Given the description of an element on the screen output the (x, y) to click on. 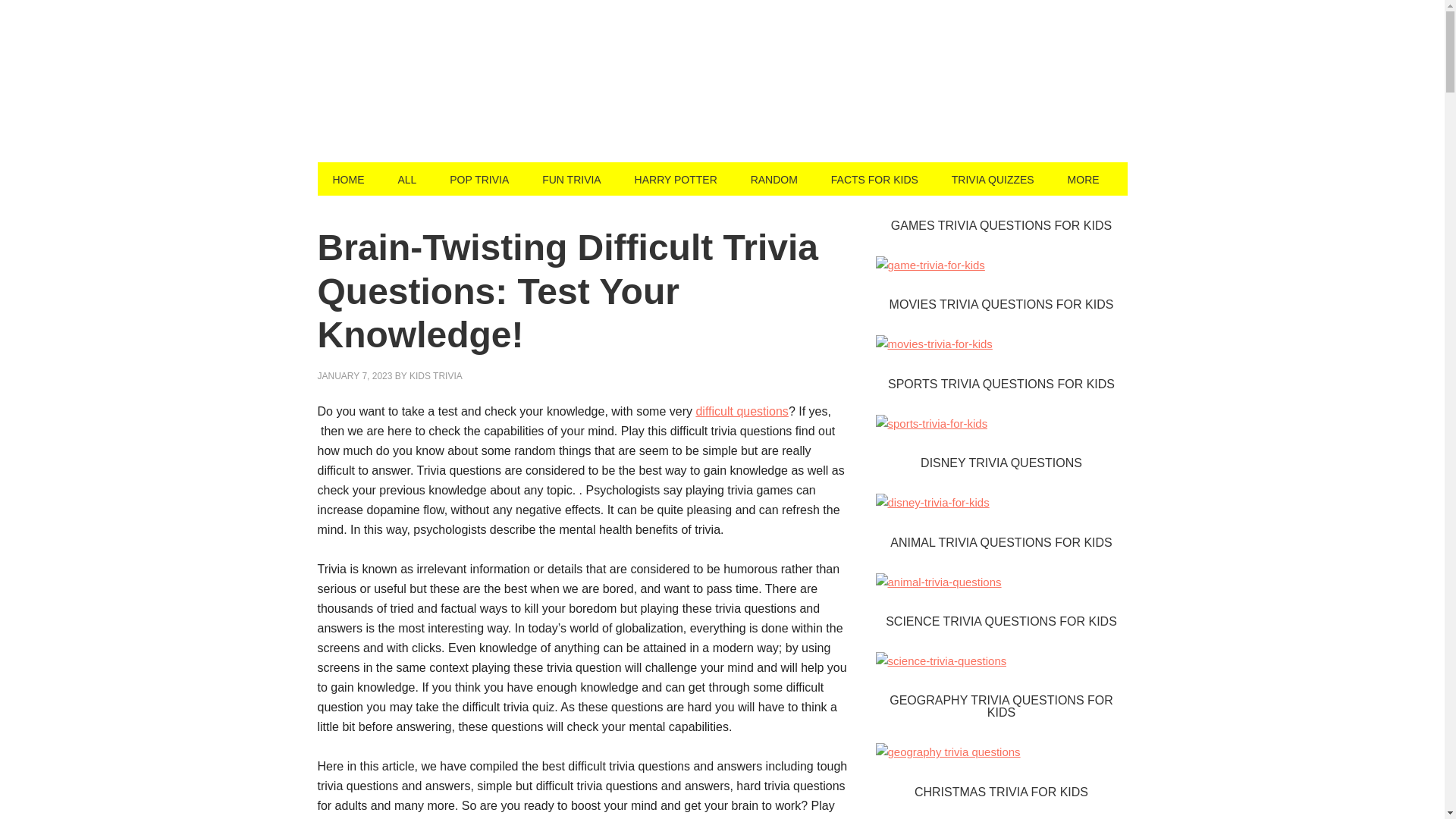
KIDS TRIVIA (436, 376)
ALL (405, 178)
POP TRIVIA (478, 178)
HARRY POTTER (676, 178)
FUN TRIVIA (571, 178)
TRIVIA QUIZZES (992, 178)
HOME (347, 178)
FACTS FOR KIDS (874, 178)
RANDOM (773, 178)
